Given the description of an element on the screen output the (x, y) to click on. 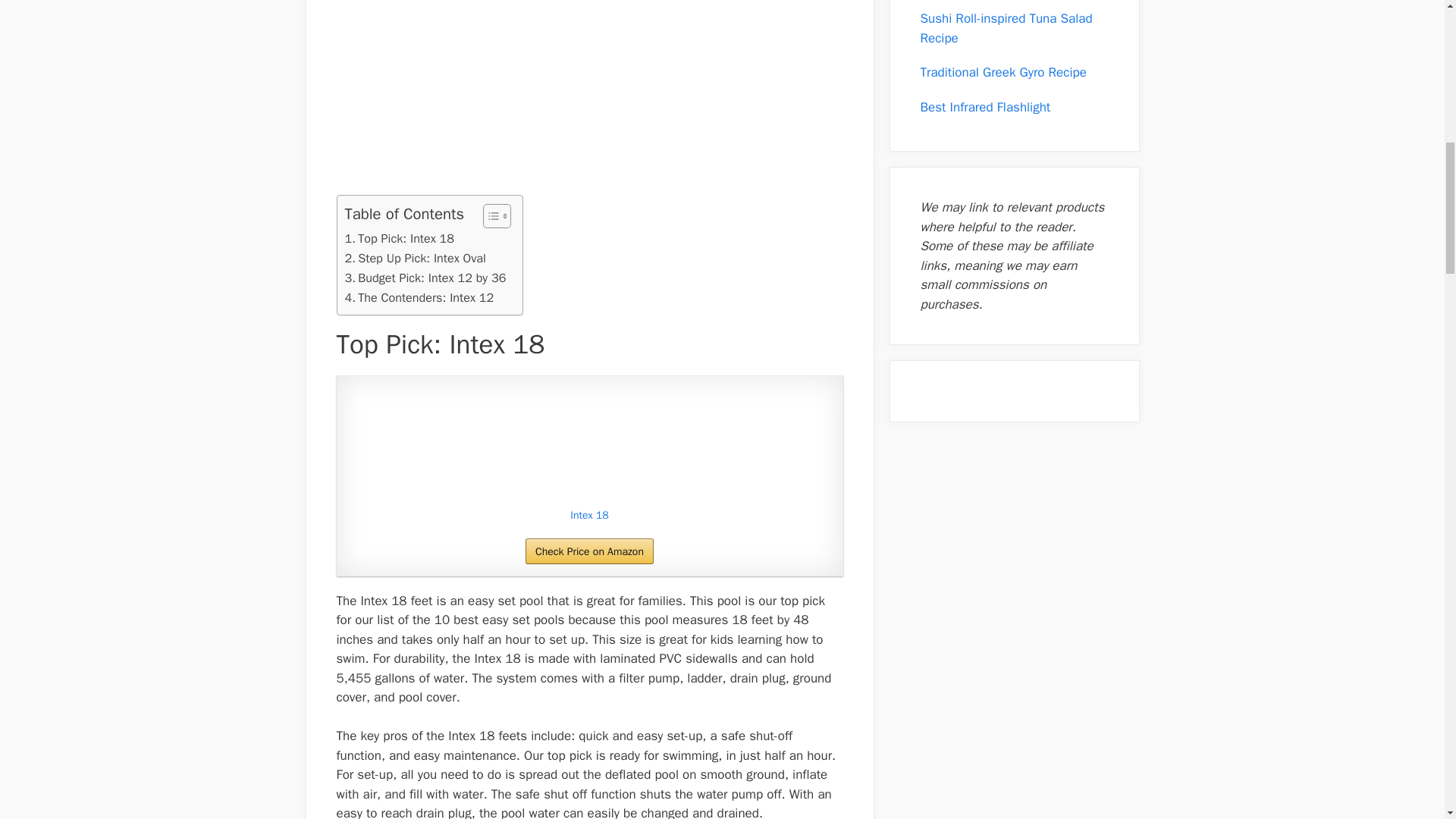
Best Easy Set Pool 2020 1 (589, 444)
Top Pick: Intex 18 (397, 238)
Step Up Pick: Intex Oval (413, 258)
Intex 18 (590, 444)
Check Price on Amazon (589, 551)
Budget Pick: Intex 12 by 36 (424, 278)
Top Pick: Intex 18 (397, 238)
Intex 18 (590, 515)
The Contenders: Intex 12 (418, 297)
Budget Pick: Intex 12 by 36 (424, 278)
